Given the description of an element on the screen output the (x, y) to click on. 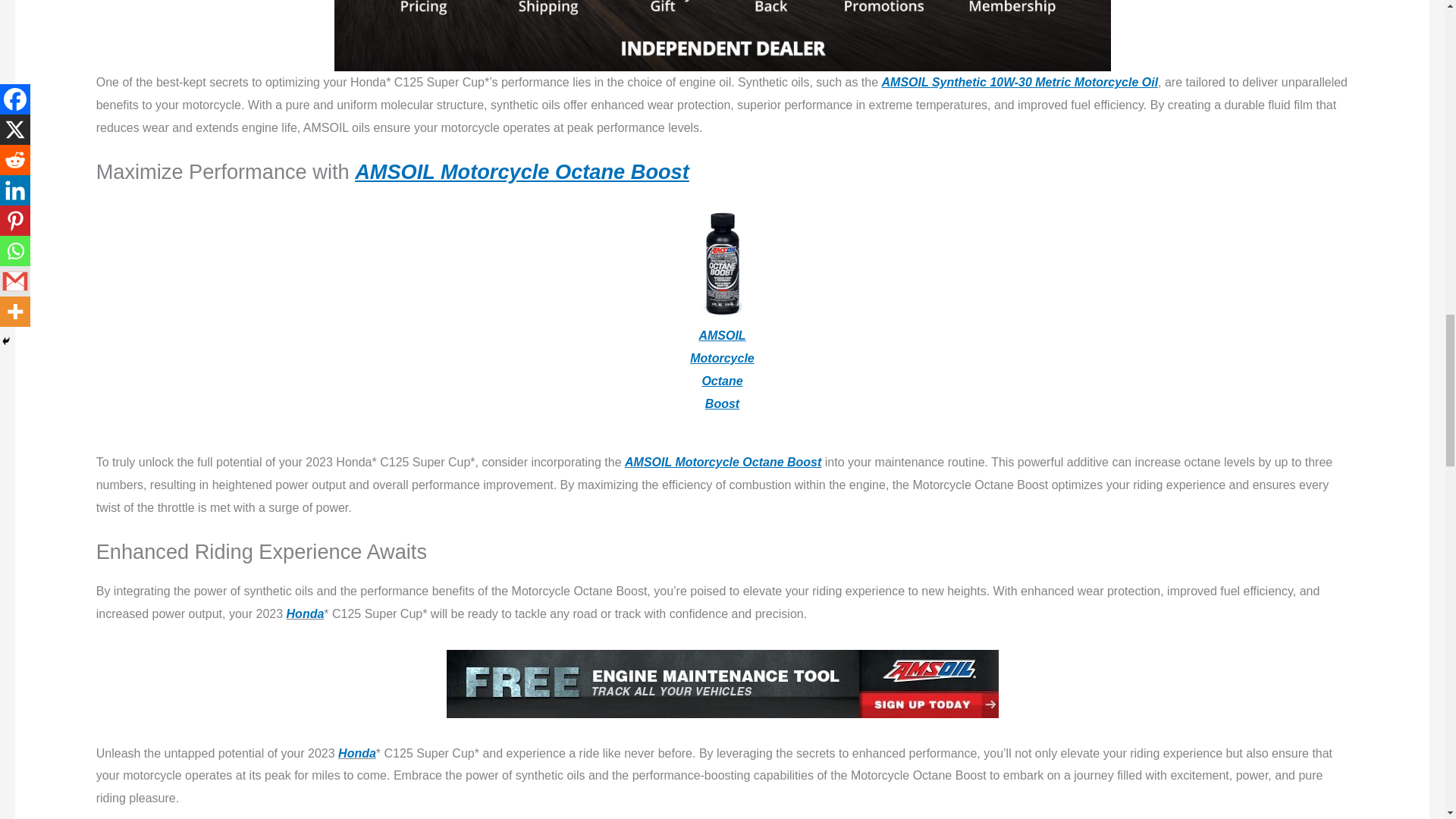
Honda (356, 753)
AMSOIL Motorcycle Octane Boost (722, 461)
Honda (305, 613)
AMSOIL Motorcycle Octane Boost (521, 171)
AMSOIL Synthetic 10W-30 Metric Motorcycle Oil (1020, 82)
